Given the description of an element on the screen output the (x, y) to click on. 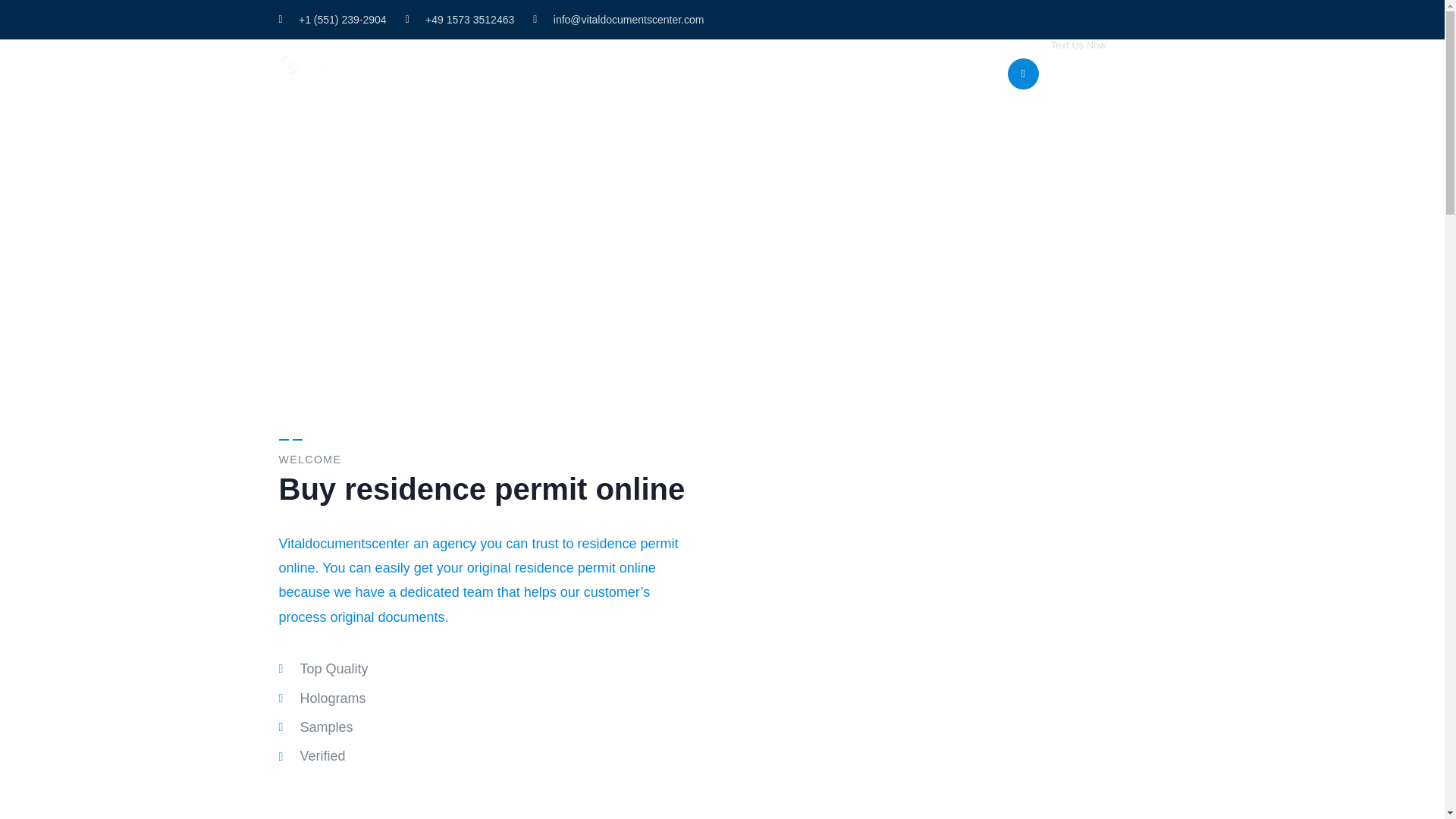
Home (324, 65)
